Given the description of an element on the screen output the (x, y) to click on. 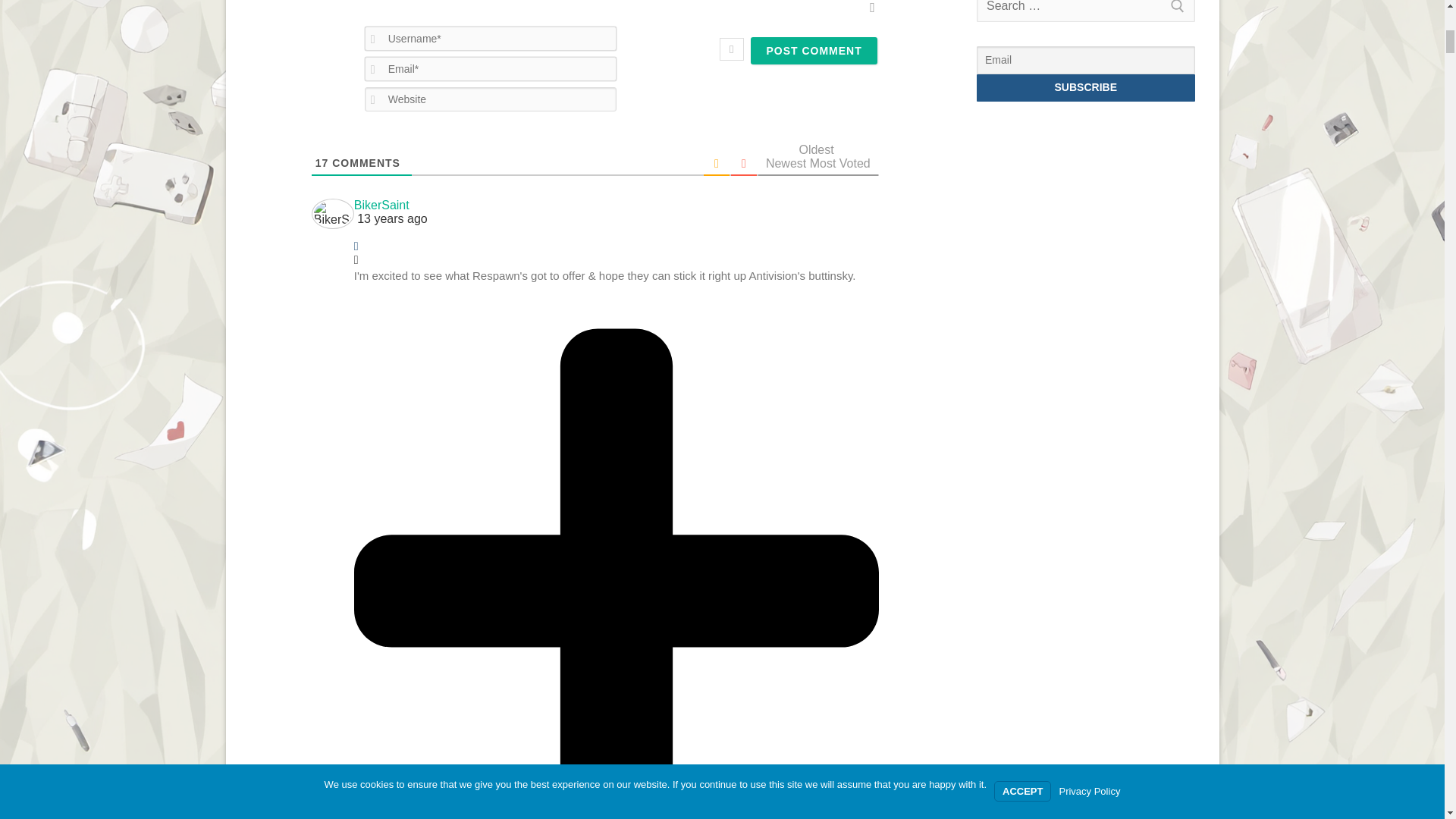
Subscribe (1085, 87)
June 9, 2011 12:00 am (616, 219)
Post Comment (813, 50)
17 (322, 162)
Post Comment (813, 50)
